Given the description of an element on the screen output the (x, y) to click on. 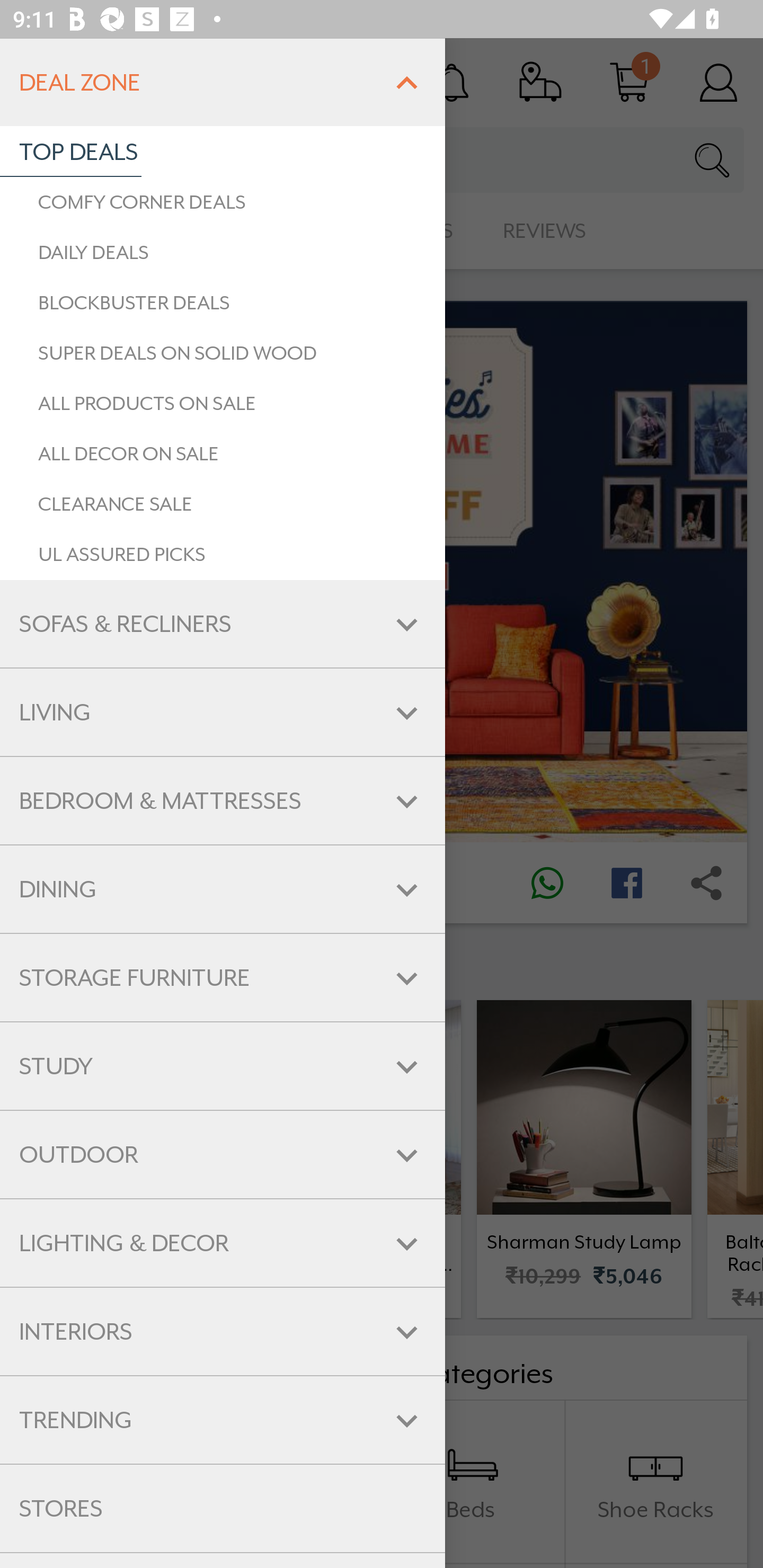
DEAL ZONE  (222, 82)
TOP DEALS (70, 151)
COMFY CORNER DEALS (222, 202)
DAILY DEALS (222, 252)
BLOCKBUSTER DEALS  (222, 302)
SUPER DEALS ON SOLID WOOD (222, 353)
ALL PRODUCTS ON SALE (222, 403)
ALL DECOR ON SALE (222, 453)
CLEARANCE SALE (222, 503)
UL ASSURED PICKS (222, 554)
SOFAS & RECLINERS  (222, 623)
LIVING  (222, 712)
BEDROOM & MATTRESSES  (222, 800)
DINING  (222, 889)
STORAGE FURNITURE  (222, 977)
STUDY  (222, 1066)
OUTDOOR  (222, 1154)
LIGHTING & DECOR  (222, 1243)
INTERIORS  (222, 1331)
TRENDING  (222, 1419)
STORES (222, 1508)
